Given the description of an element on the screen output the (x, y) to click on. 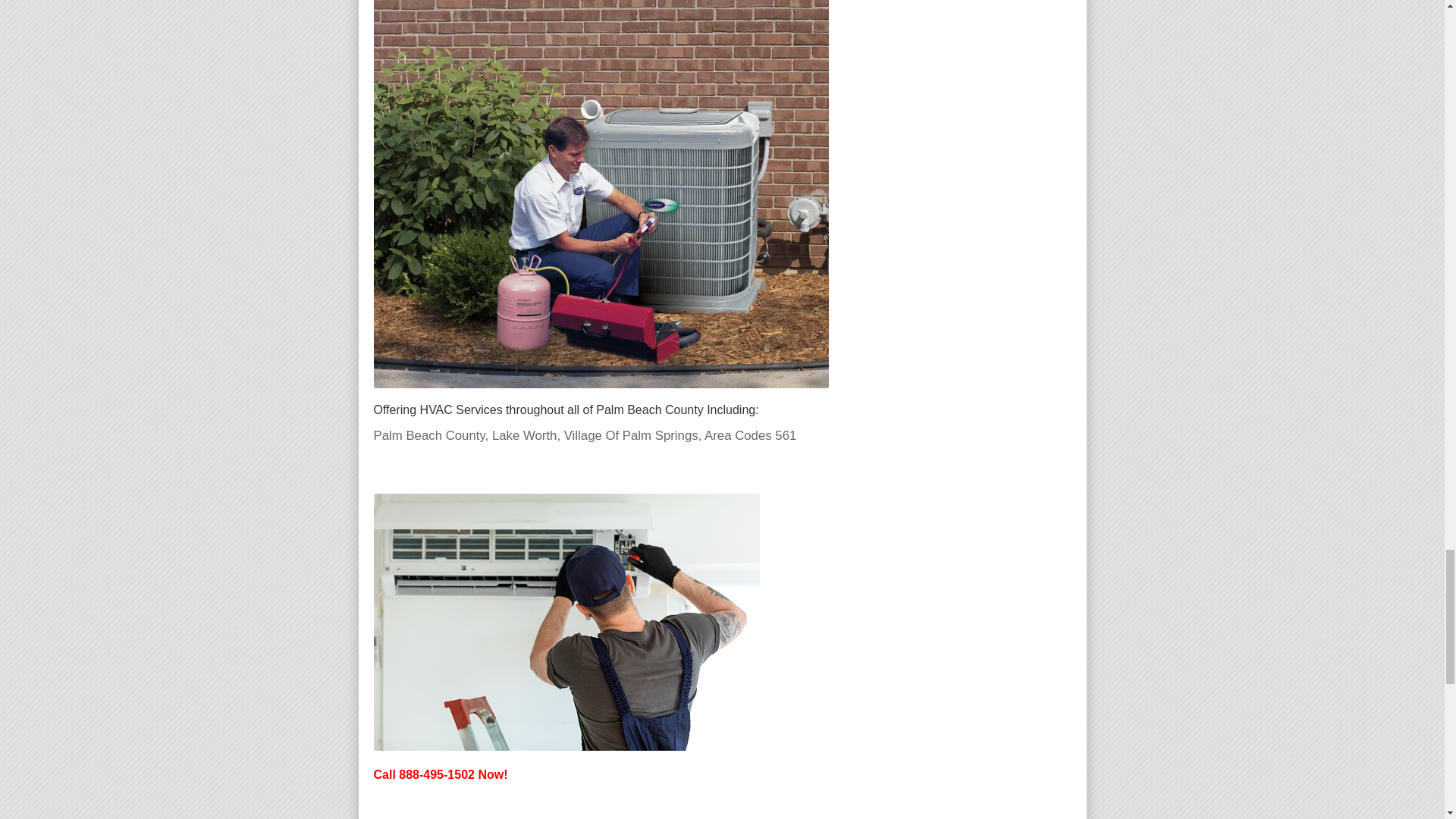
Call 888-495-1502 Now! (439, 773)
HVAC Repair Lake Worth FL (565, 621)
